Given the description of an element on the screen output the (x, y) to click on. 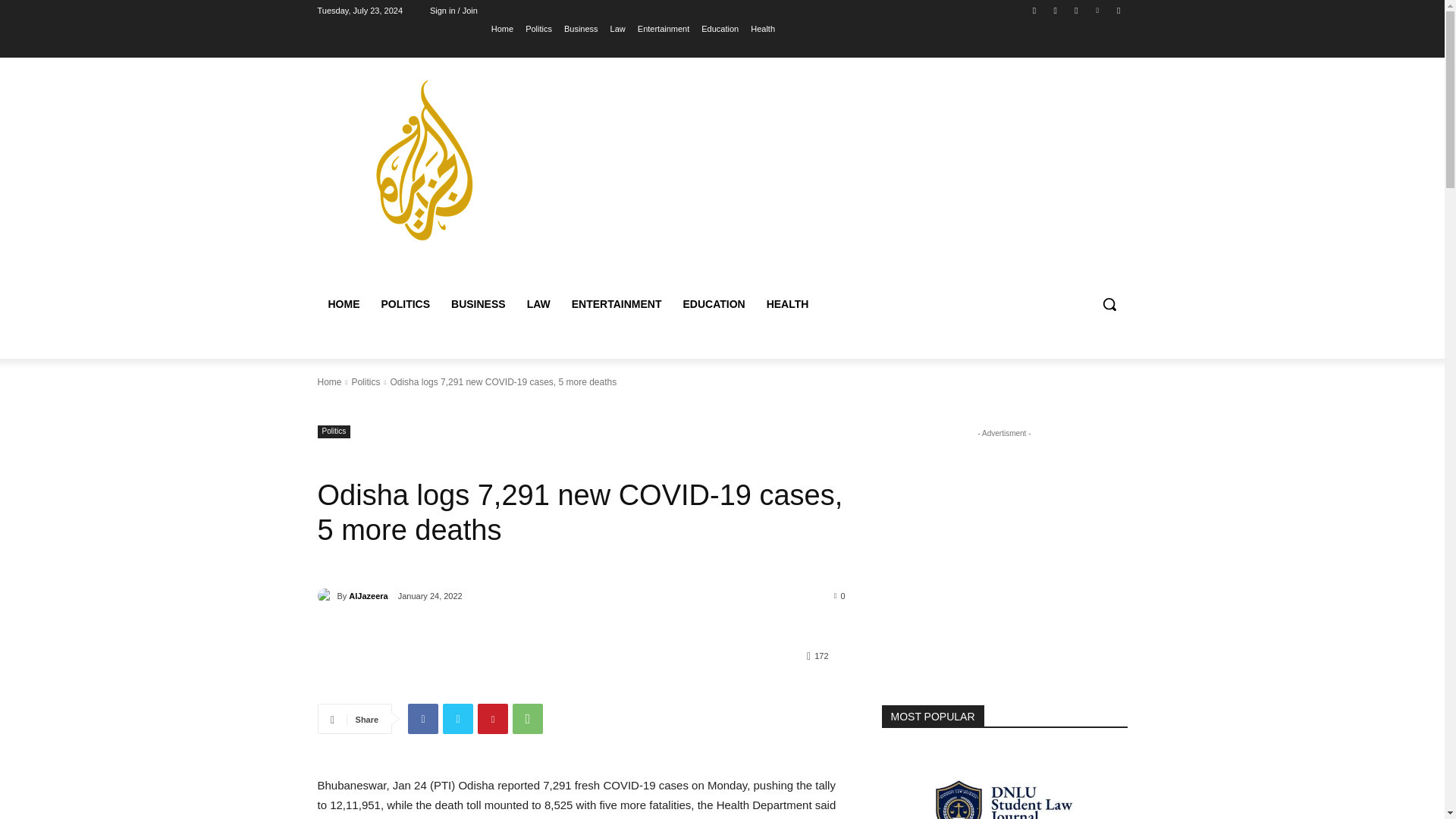
HOME (343, 303)
Instagram (1055, 9)
Health (762, 28)
Politics (365, 381)
Law (618, 28)
Politics (538, 28)
Home (502, 28)
AlJazeera (368, 595)
ENTERTAINMENT (616, 303)
0 (839, 594)
LAW (538, 303)
Twitter (1075, 9)
Twitter (457, 718)
AlJazeera (326, 595)
Politics (333, 431)
